Given the description of an element on the screen output the (x, y) to click on. 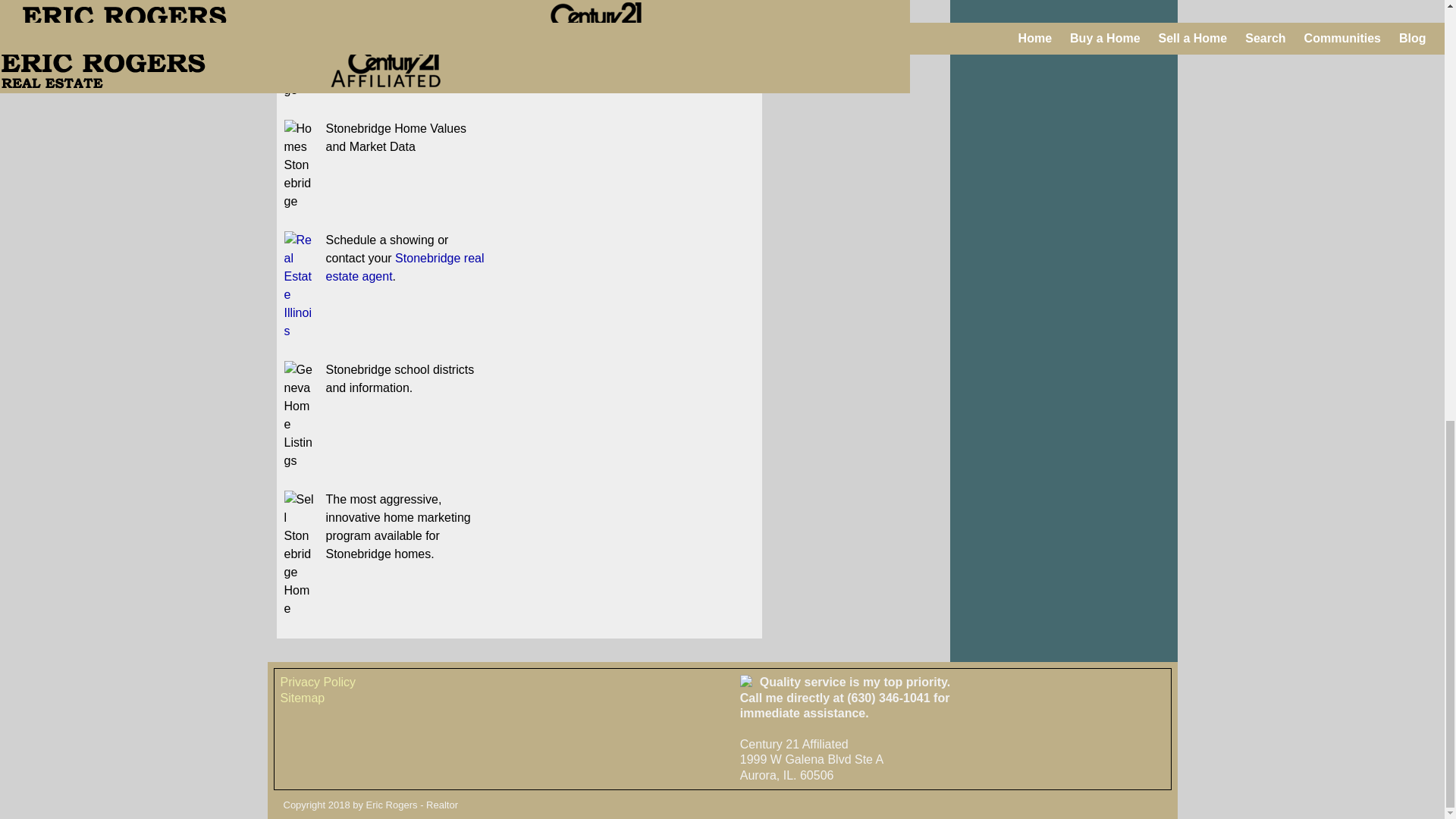
Stonebridge real estate agent (405, 266)
Privacy Policy (318, 681)
Sitemap (302, 697)
